Given the description of an element on the screen output the (x, y) to click on. 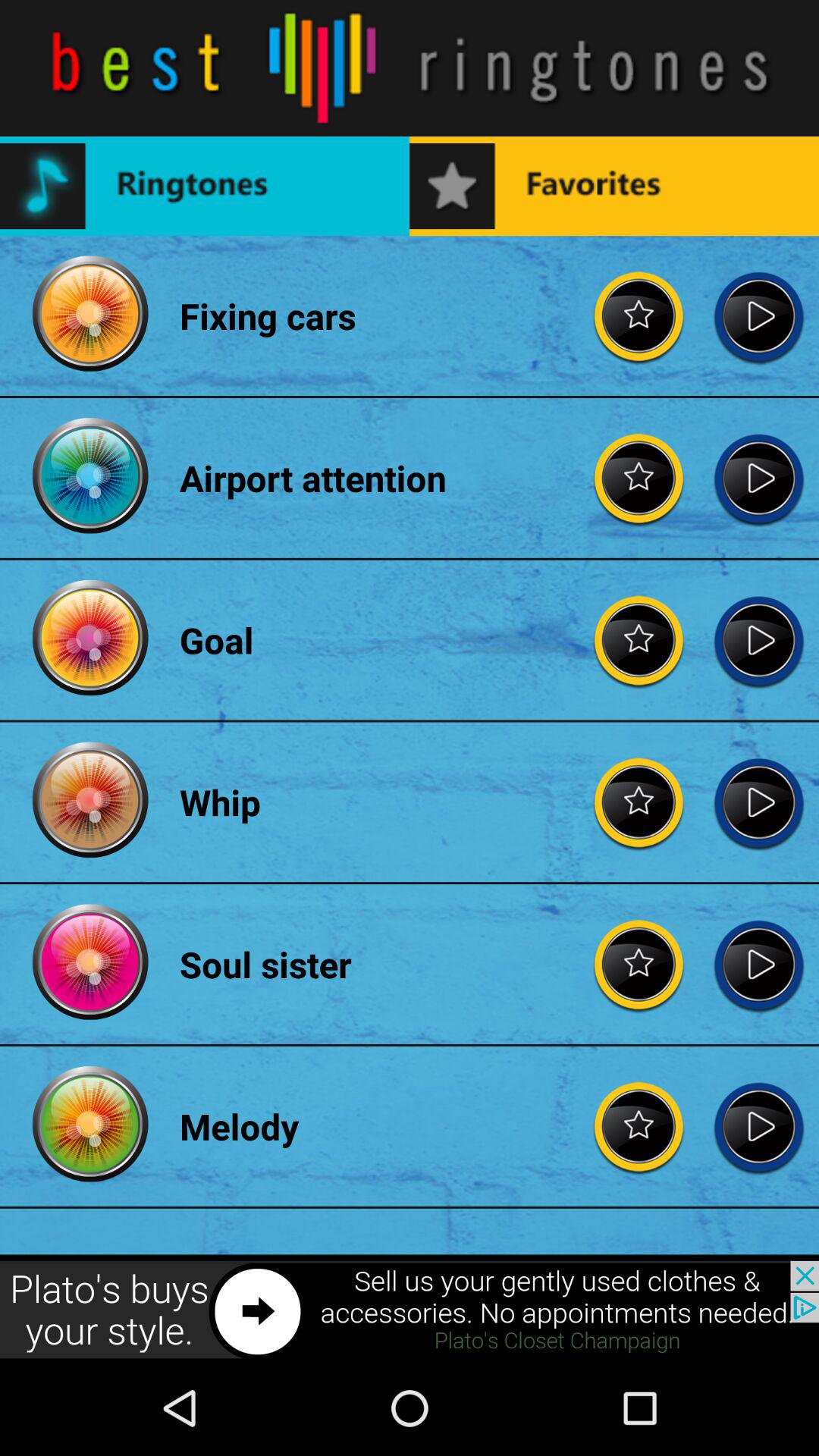
view the favorites (639, 964)
